Given the description of an element on the screen output the (x, y) to click on. 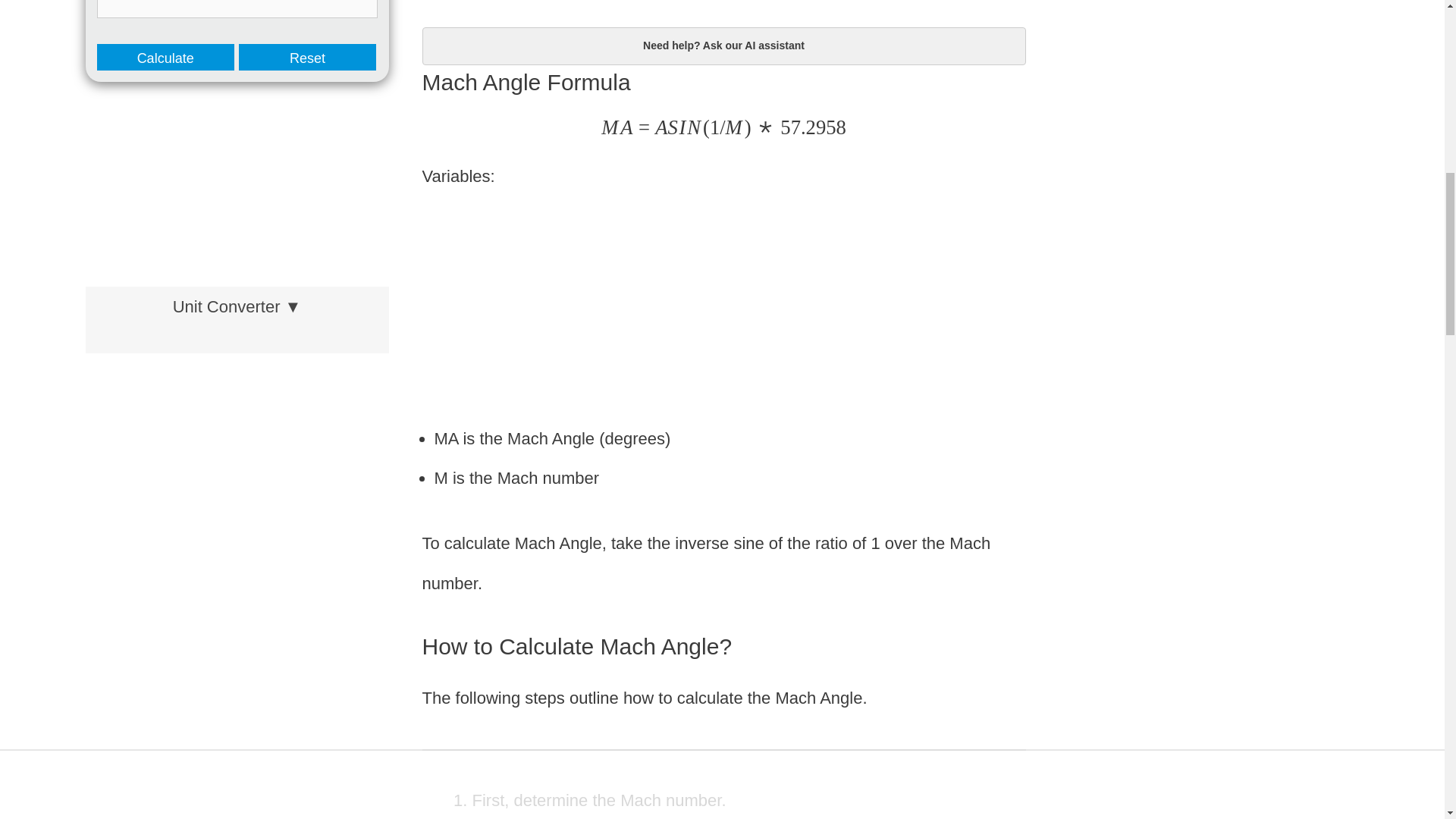
Reset (306, 57)
Calculate (165, 57)
